Given the description of an element on the screen output the (x, y) to click on. 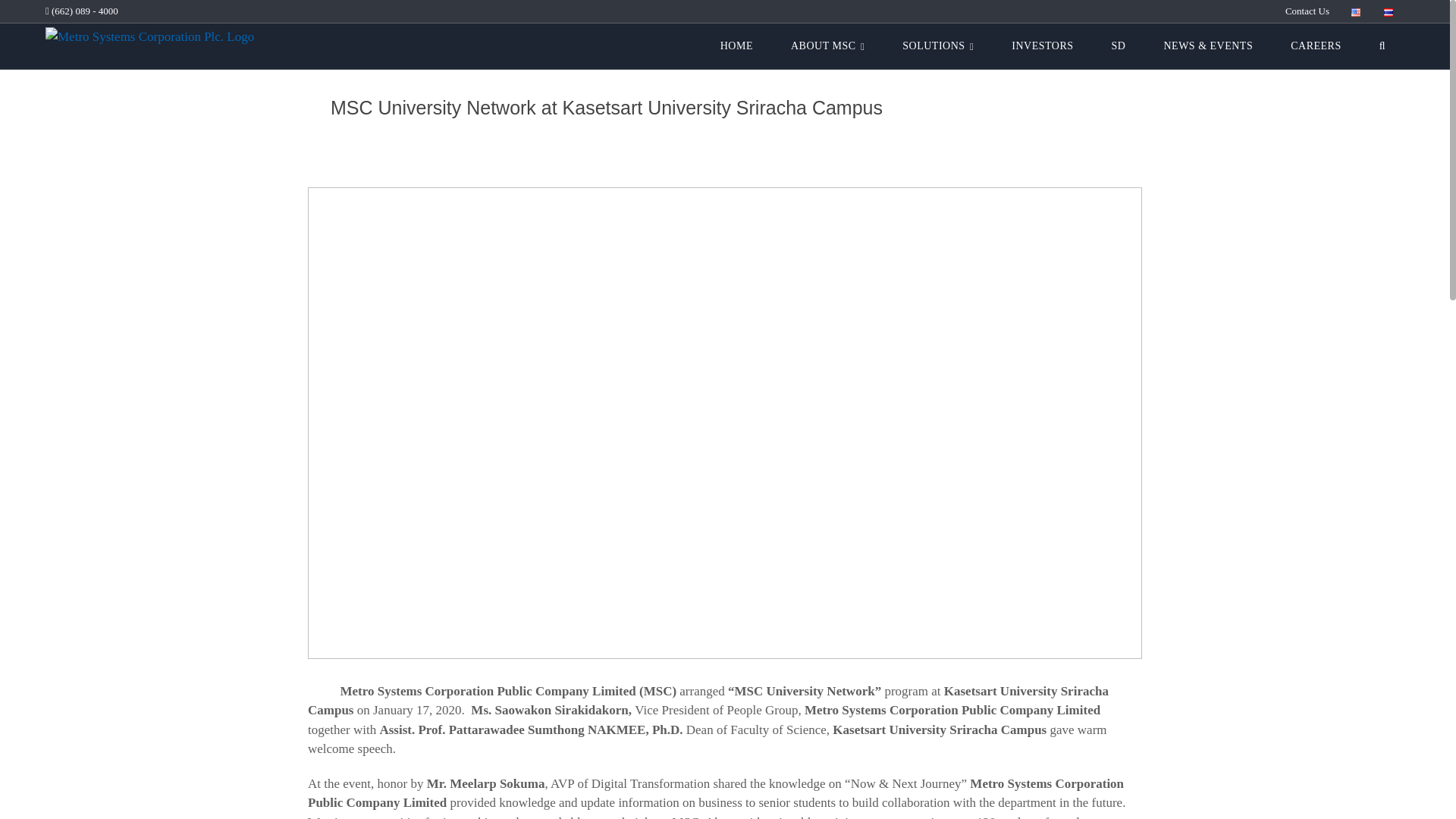
Contact Us (1307, 11)
ABOUT MSC (827, 45)
SOLUTIONS (938, 45)
Contact Us (1307, 11)
ABOUT MSC (827, 45)
